Given the description of an element on the screen output the (x, y) to click on. 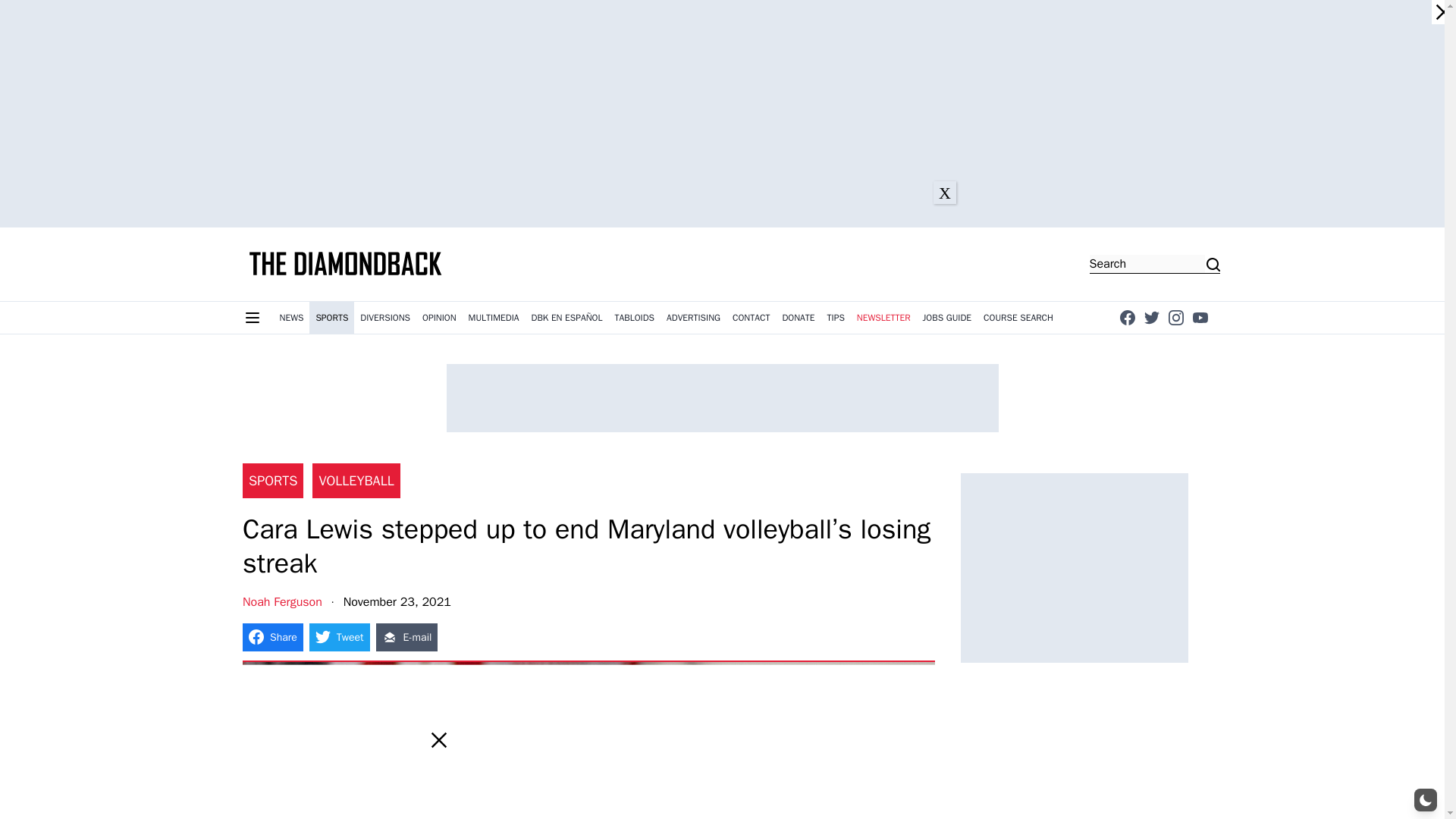
DONATE (798, 317)
OPINION (439, 317)
Opinion (439, 317)
COURSE SEARCH (1017, 317)
MULTIMEDIA (494, 317)
NEWSLETTER (883, 317)
NEWS (290, 317)
SPORTS (330, 317)
JOBS GUIDE (947, 317)
